Given the description of an element on the screen output the (x, y) to click on. 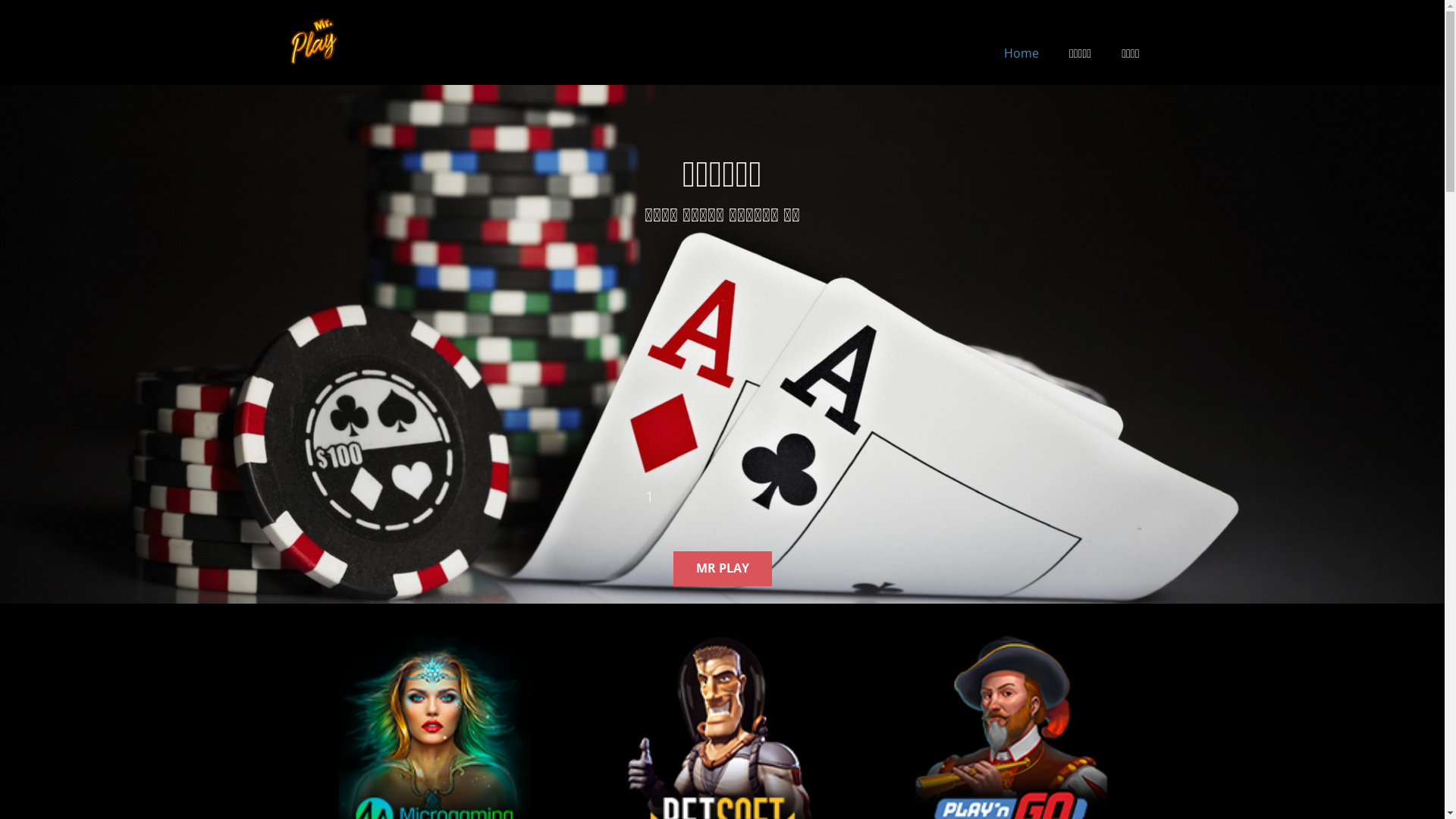
Home Element type: text (1021, 52)
MR PLAY Element type: text (722, 568)
